Given the description of an element on the screen output the (x, y) to click on. 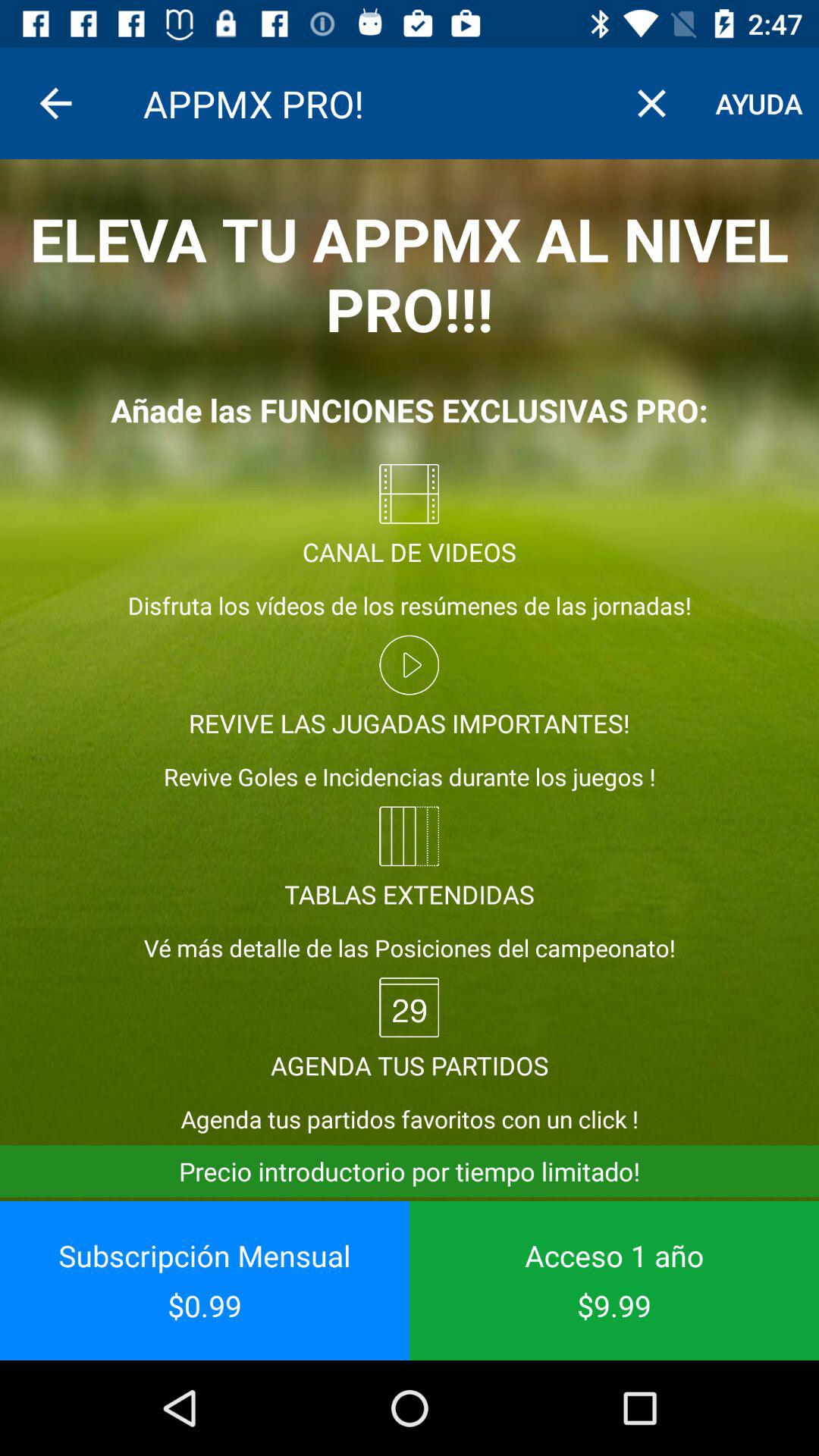
open icon above eleva tu appmx item (651, 103)
